Given the description of an element on the screen output the (x, y) to click on. 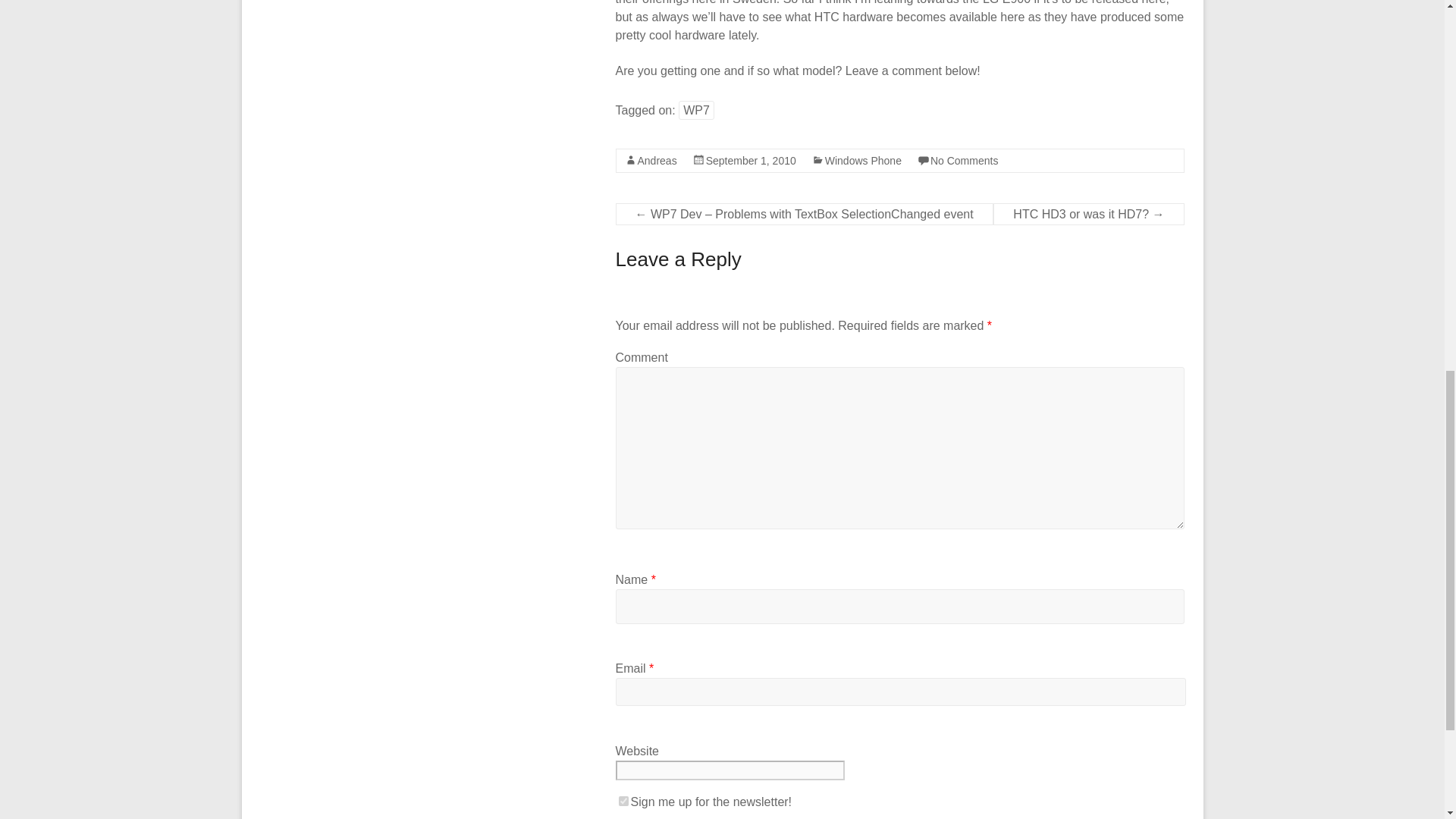
22:46 (751, 160)
Andreas (657, 160)
No Comments (963, 160)
1 (623, 800)
September 1, 2010 (751, 160)
Windows Phone (863, 160)
WP7 (696, 109)
